Given the description of an element on the screen output the (x, y) to click on. 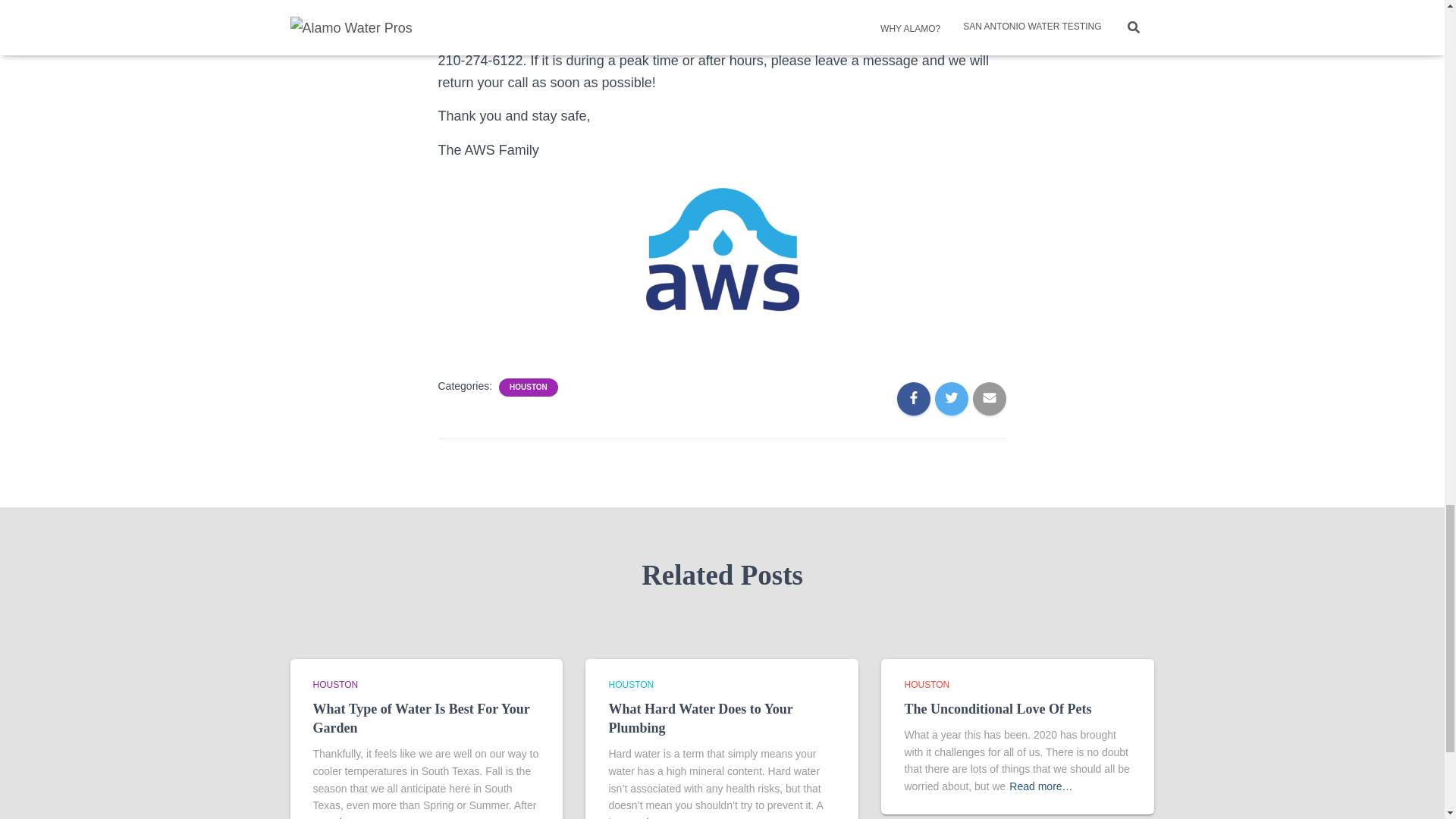
HOUSTON (926, 684)
The Unconditional Love Of Pets (997, 708)
View all posts in Houston (630, 684)
What Type of Water Is Best For Your Garden (421, 718)
What Hard Water Does to Your Plumbing (700, 718)
HOUSTON (528, 387)
HOUSTON (630, 684)
The Unconditional Love Of Pets (997, 708)
View all posts in Houston (926, 684)
What Type of Water Is Best For Your Garden (421, 718)
What Hard Water Does to Your Plumbing (700, 718)
HOUSTON (335, 684)
View all posts in Houston (335, 684)
